Given the description of an element on the screen output the (x, y) to click on. 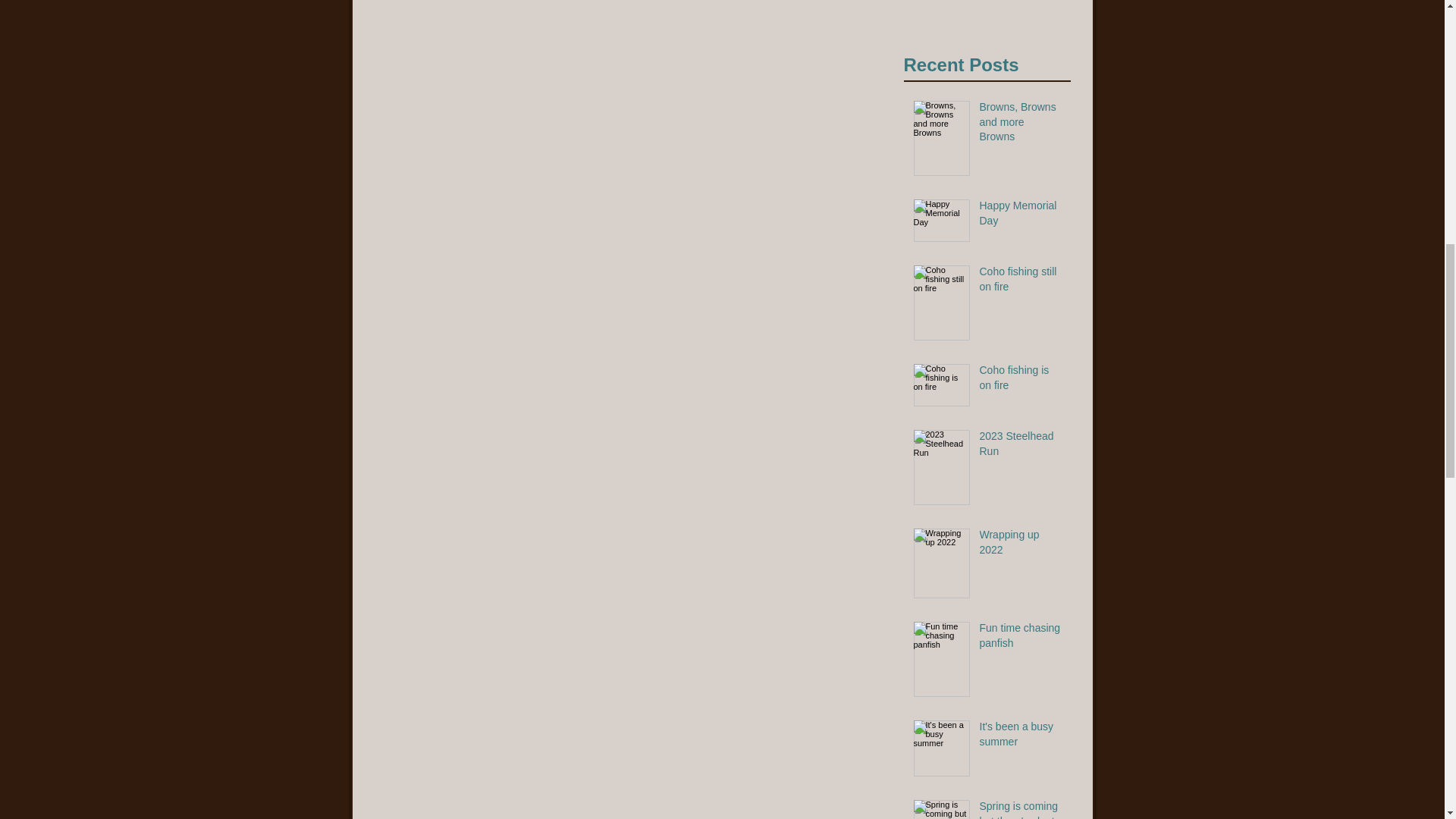
It's been a busy summer (987, 13)
Browns, Browns and more Browns (1020, 737)
Fun time chasing panfish (1020, 124)
Coho fishing is on fire (1020, 638)
Spring is coming but there's plenty of ice fishing left (1020, 380)
2023 Steelhead Run (1020, 809)
Happy Memorial Day (1020, 447)
Coho fishing still on fire (1020, 216)
Wrapping up 2022 (1020, 282)
